Given the description of an element on the screen output the (x, y) to click on. 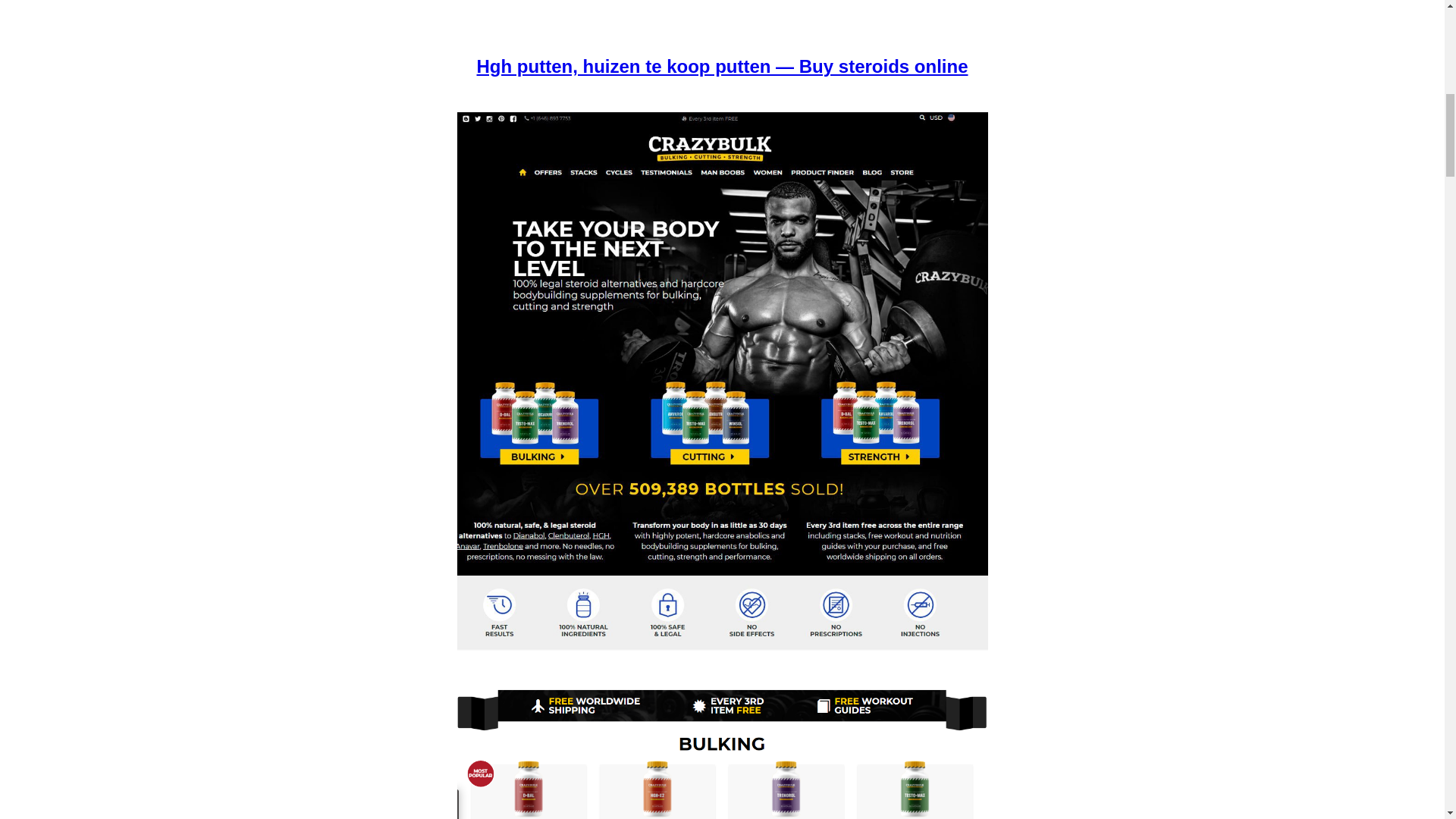
Hgh putten (722, 752)
